Given the description of an element on the screen output the (x, y) to click on. 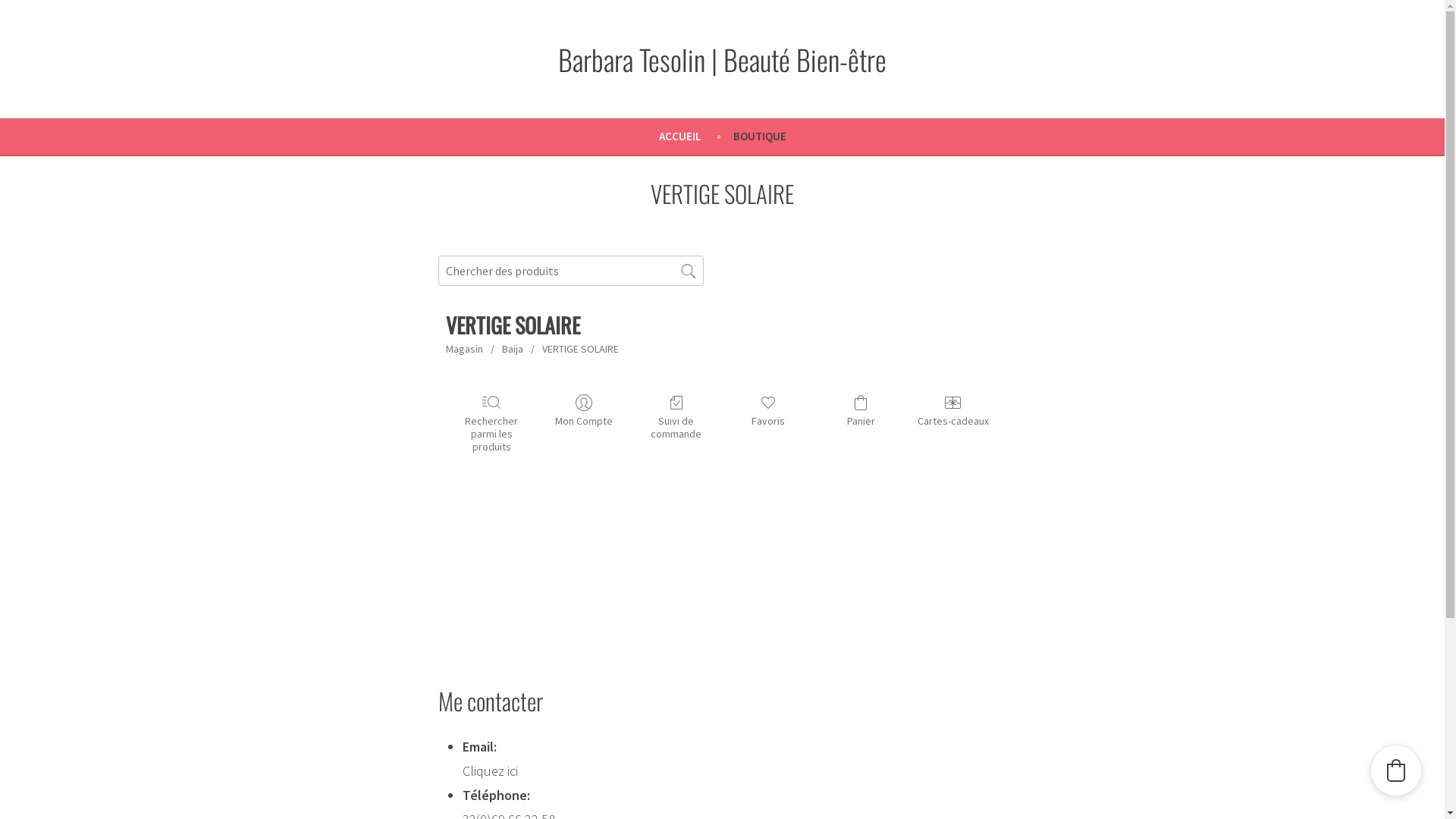
Suivi de commande Element type: text (676, 416)
Magasin Element type: text (464, 348)
ACCUEIL Element type: text (695, 136)
Panier Element type: text (859, 410)
VERTIGE SOLAIRE Element type: text (579, 348)
Favoris Element type: text (767, 410)
Cartes-cadeaux Element type: text (953, 410)
BOUTIQUE Element type: text (758, 136)
Baija Element type: text (512, 348)
Mon Compte Element type: text (583, 410)
Cliquez ici Element type: text (489, 770)
Rechercher parmi les produits Element type: text (491, 422)
